Given the description of an element on the screen output the (x, y) to click on. 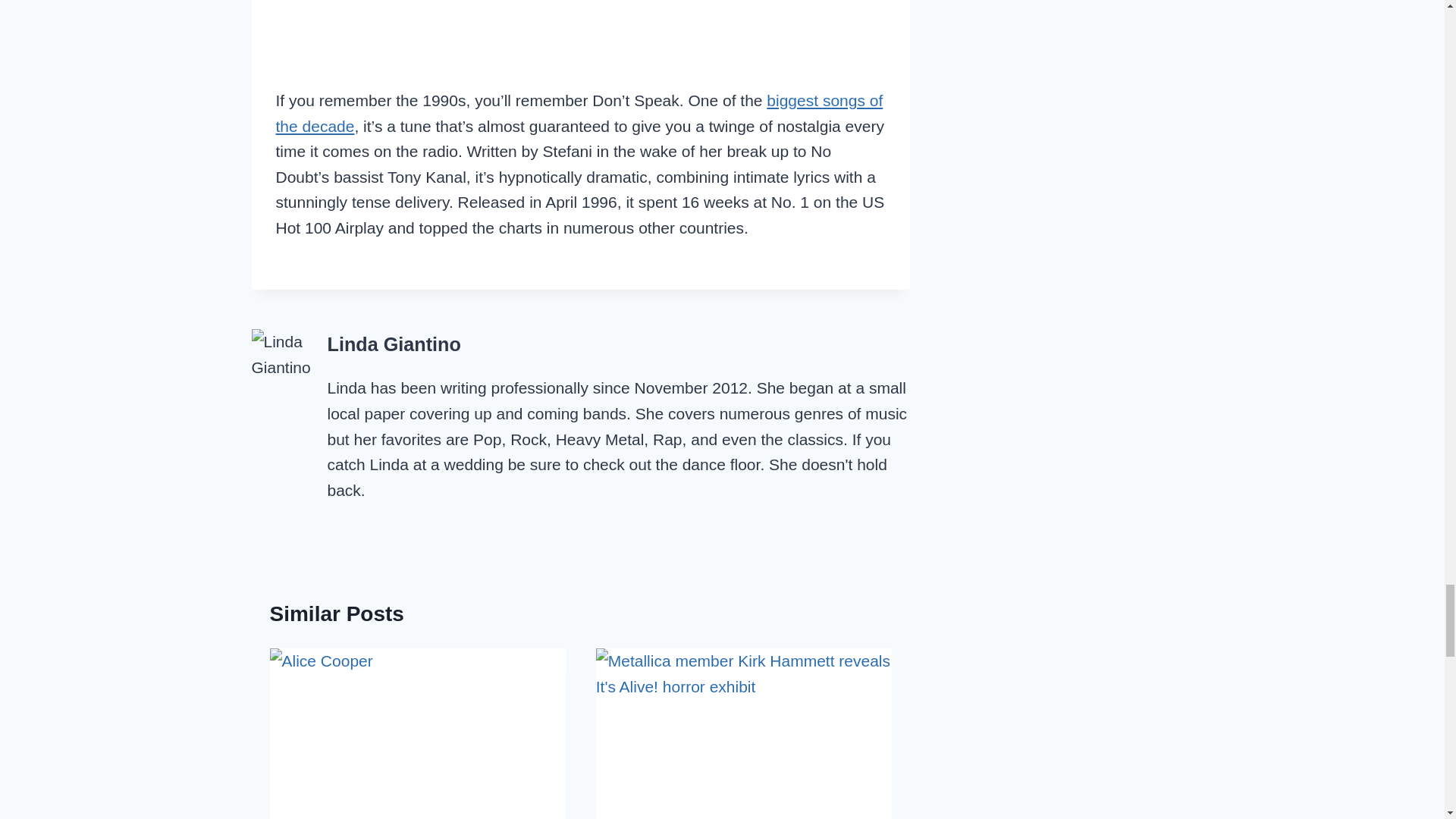
Linda Giantino (394, 343)
Posts by Linda Giantino (394, 343)
biggest songs of the decade (579, 113)
